Given the description of an element on the screen output the (x, y) to click on. 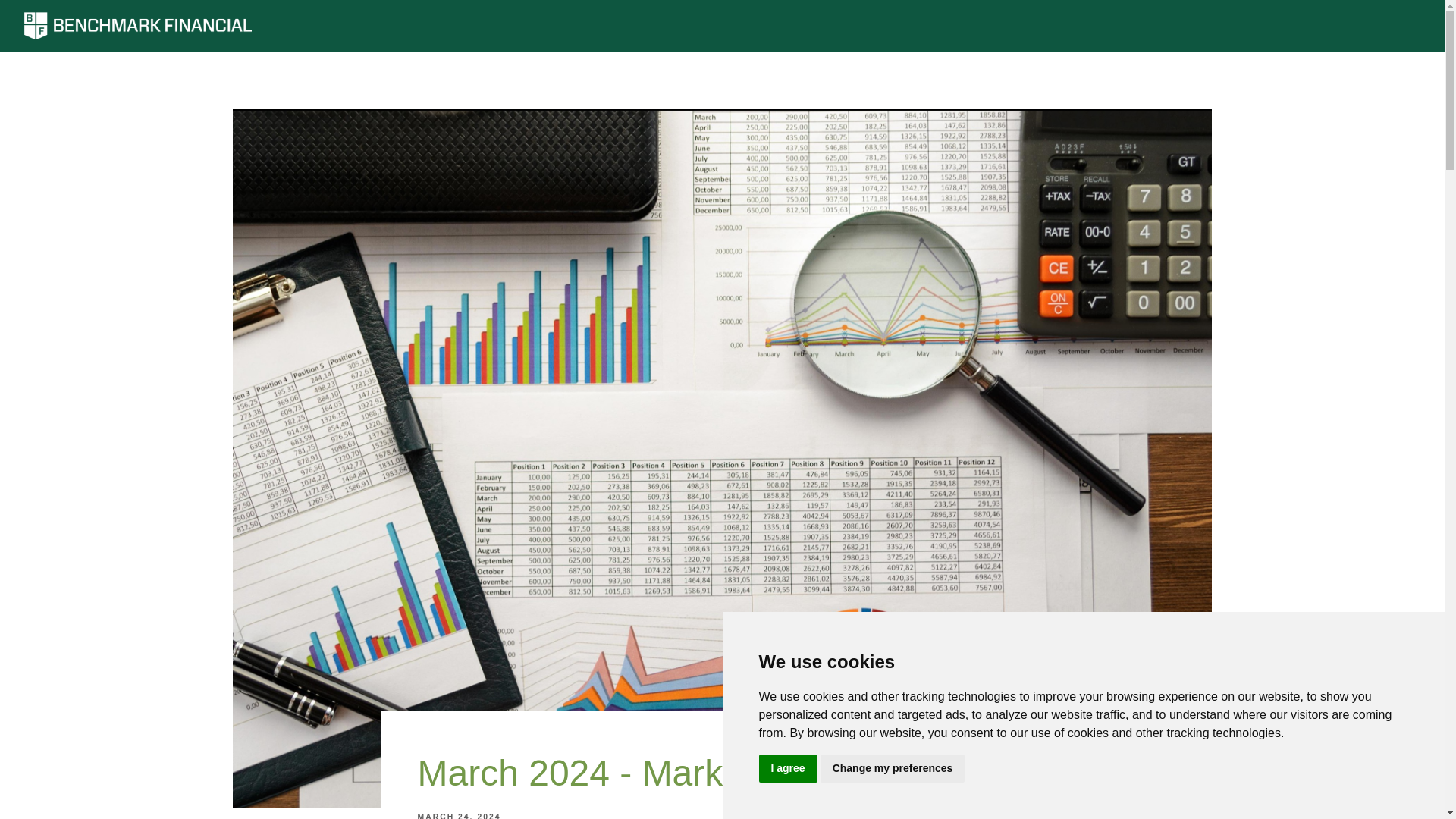
Change my preferences (893, 768)
I agree (787, 768)
